Given the description of an element on the screen output the (x, y) to click on. 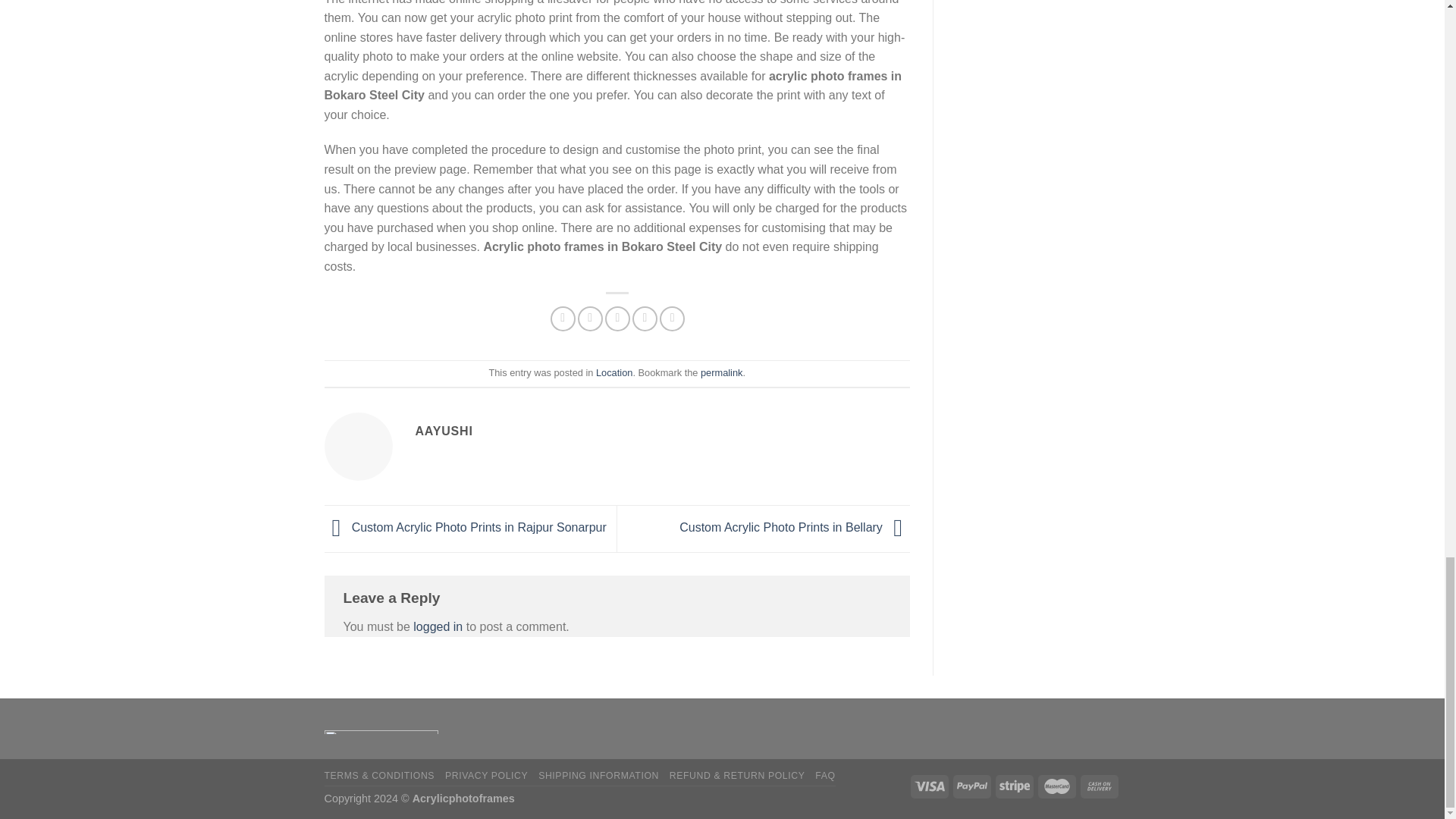
Pin on Pinterest (644, 318)
Location (613, 372)
Share on Facebook (562, 318)
permalink (721, 372)
Share on Twitter (590, 318)
Email to a Friend (617, 318)
Share on LinkedIn (671, 318)
